Given the description of an element on the screen output the (x, y) to click on. 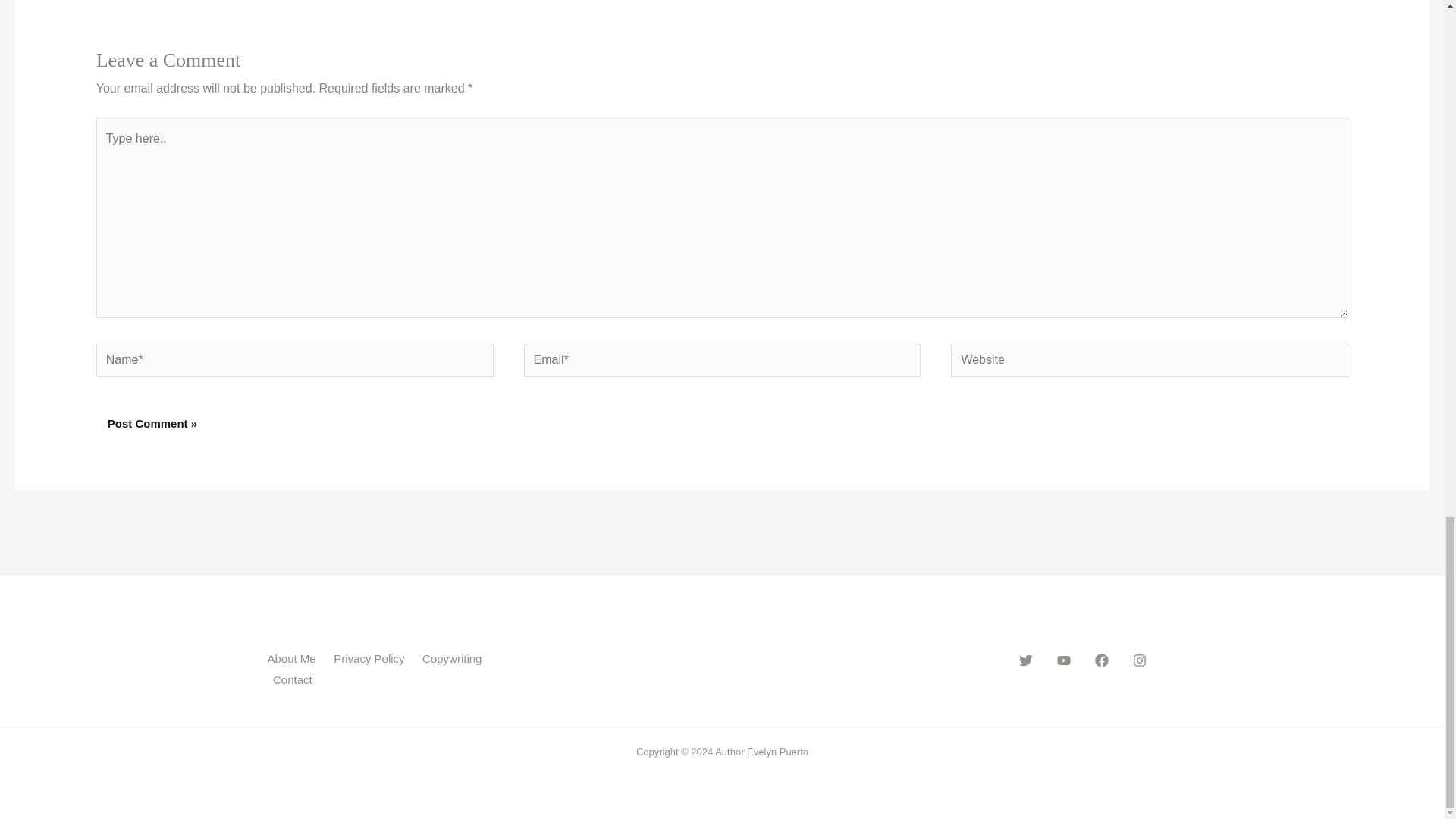
Contact (294, 680)
Privacy Policy (372, 658)
Copywriting (455, 658)
About Me (296, 658)
